Given the description of an element on the screen output the (x, y) to click on. 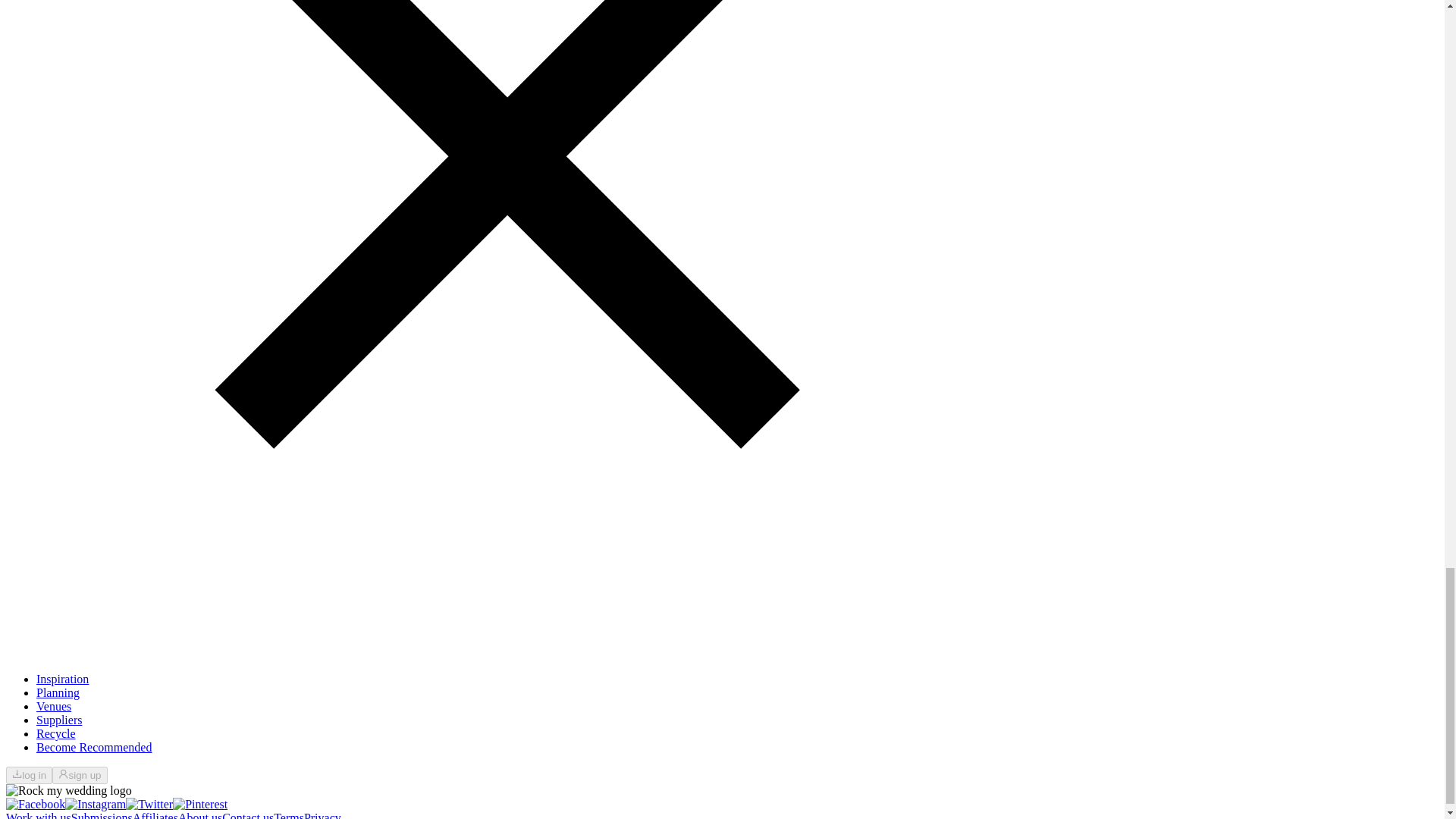
log in (28, 774)
Suppliers (58, 719)
sign up (79, 774)
Recycle (55, 733)
Become Recommended (93, 747)
Planning (58, 692)
Venues (53, 706)
Inspiration (62, 678)
